Given the description of an element on the screen output the (x, y) to click on. 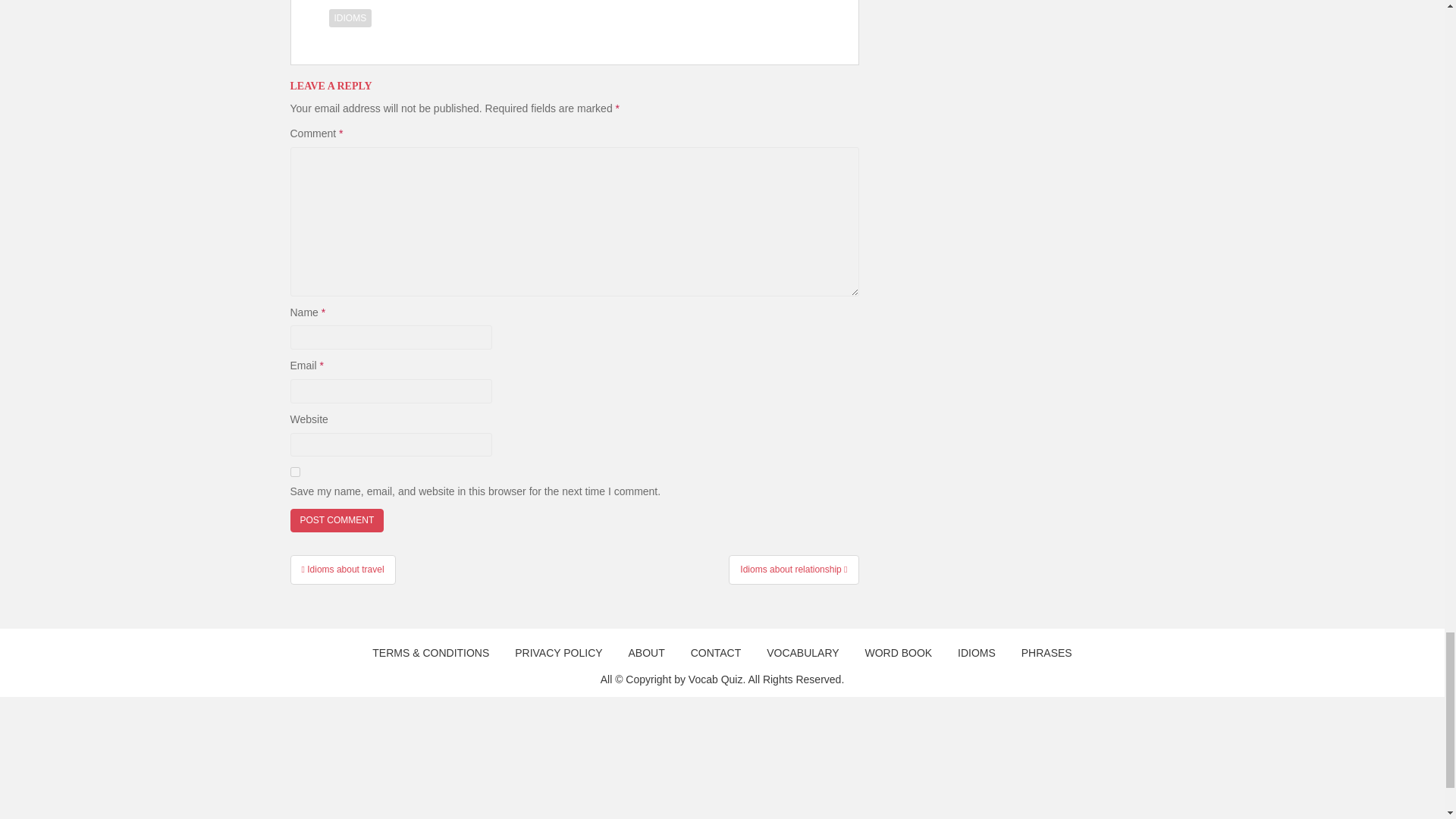
Idioms about relationship (794, 569)
Post Comment (336, 520)
IDIOMS (350, 18)
Idioms about travel (341, 569)
Post Comment (336, 520)
yes (294, 471)
